Given the description of an element on the screen output the (x, y) to click on. 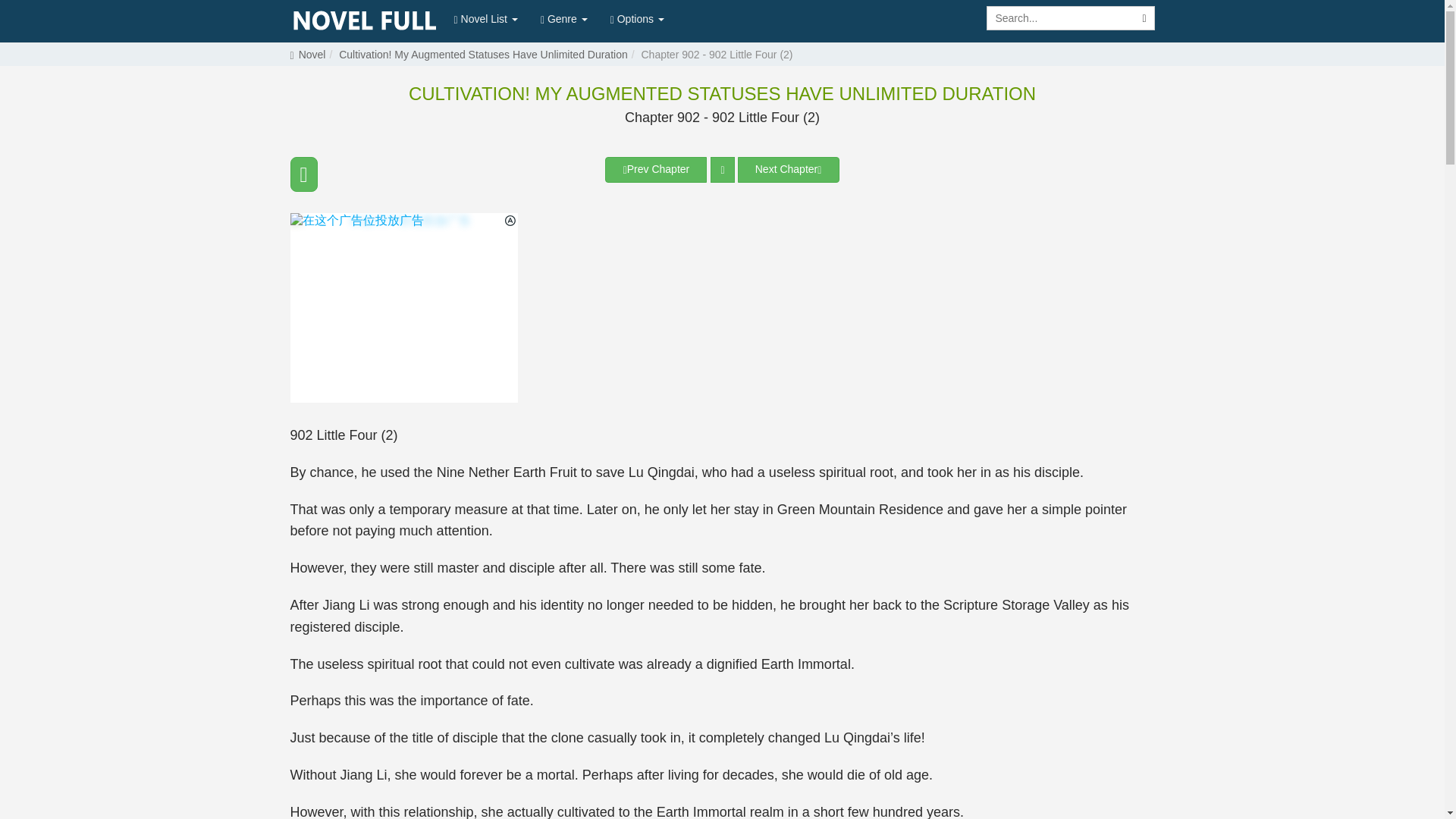
Novel List (485, 18)
Read novel online (363, 21)
Genre (563, 18)
